Given the description of an element on the screen output the (x, y) to click on. 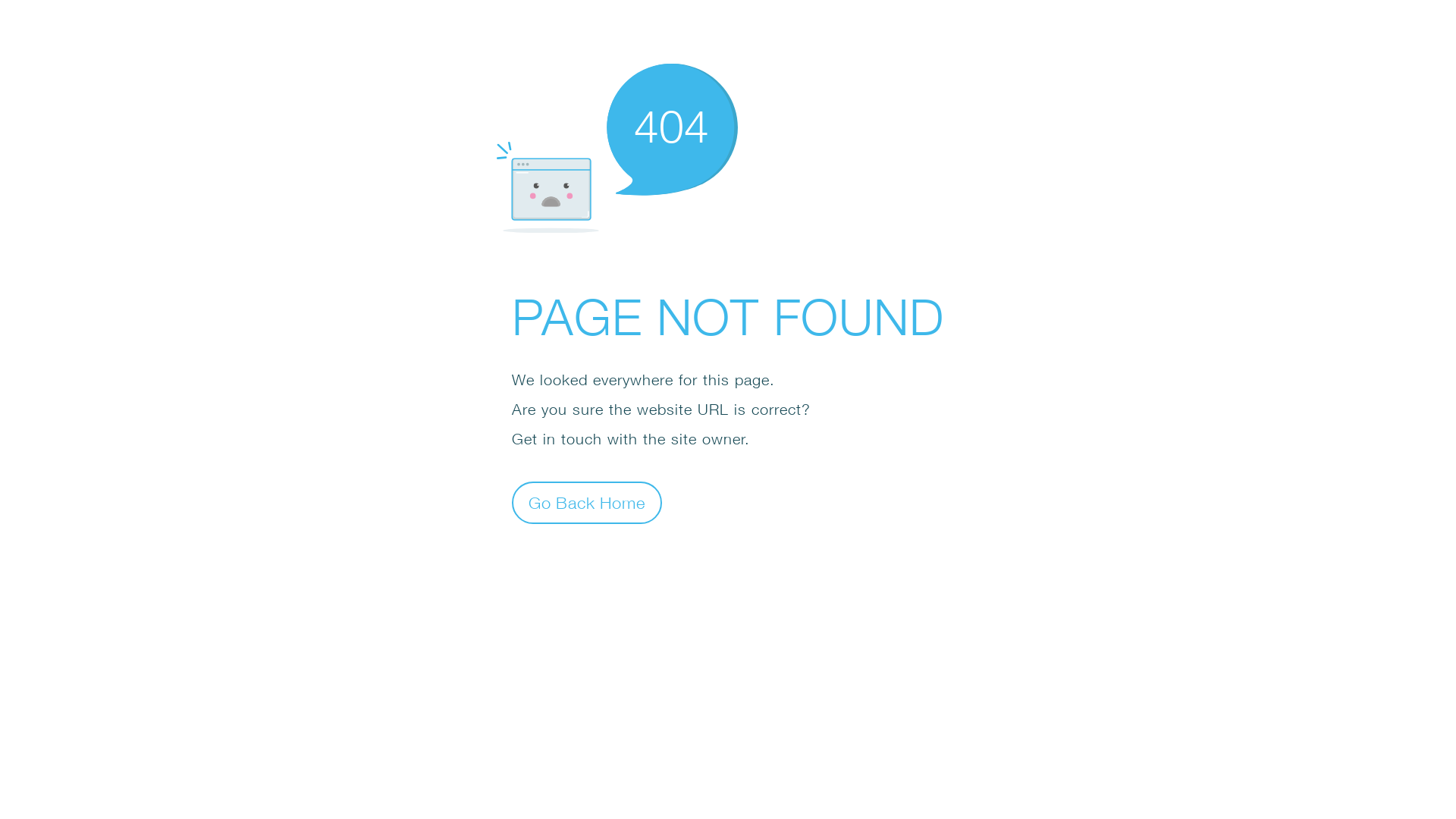
Go Back Home Element type: text (586, 502)
